Given the description of an element on the screen output the (x, y) to click on. 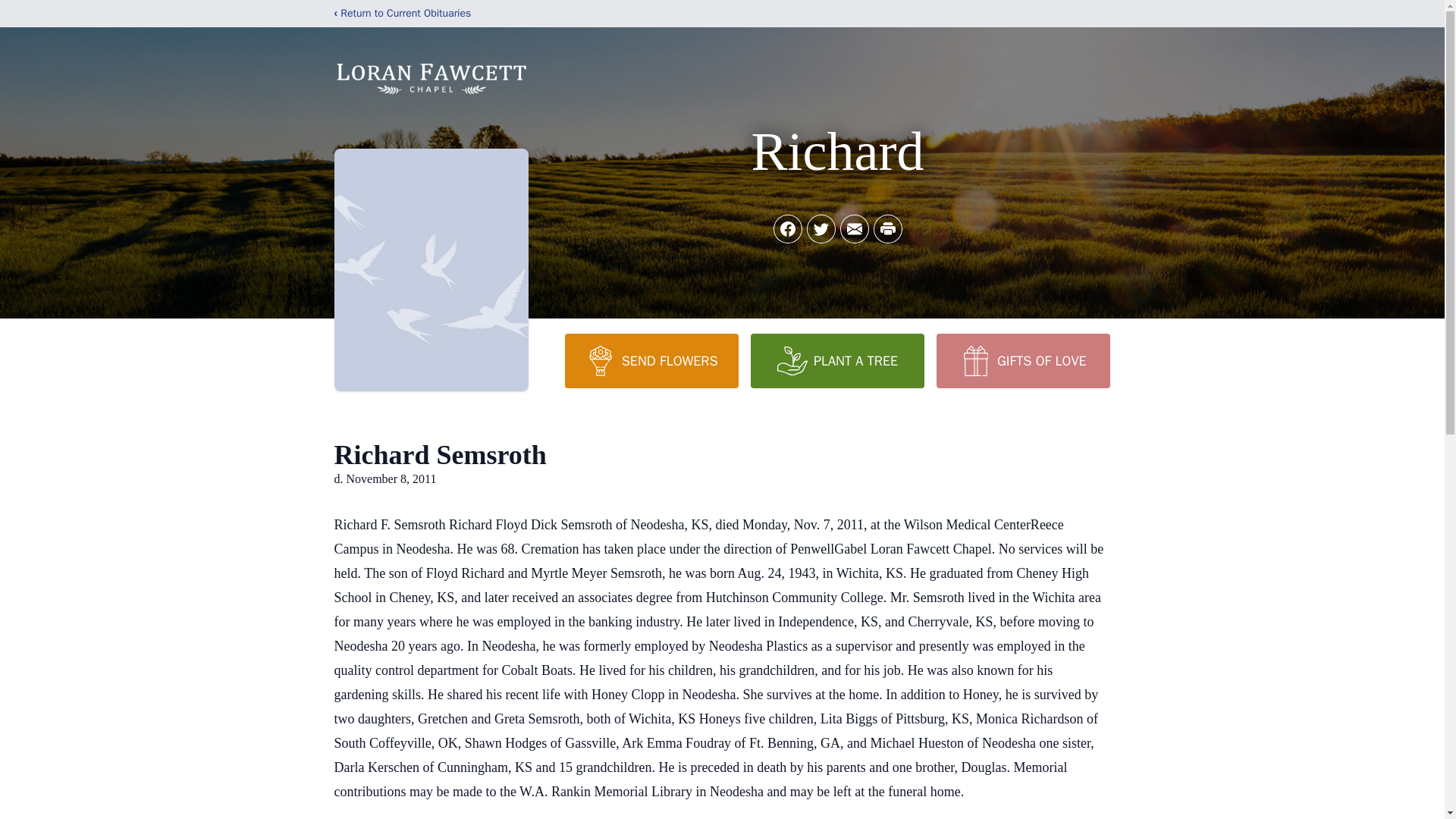
SEND FLOWERS (651, 360)
PLANT A TREE (837, 360)
GIFTS OF LOVE (1022, 360)
